Given the description of an element on the screen output the (x, y) to click on. 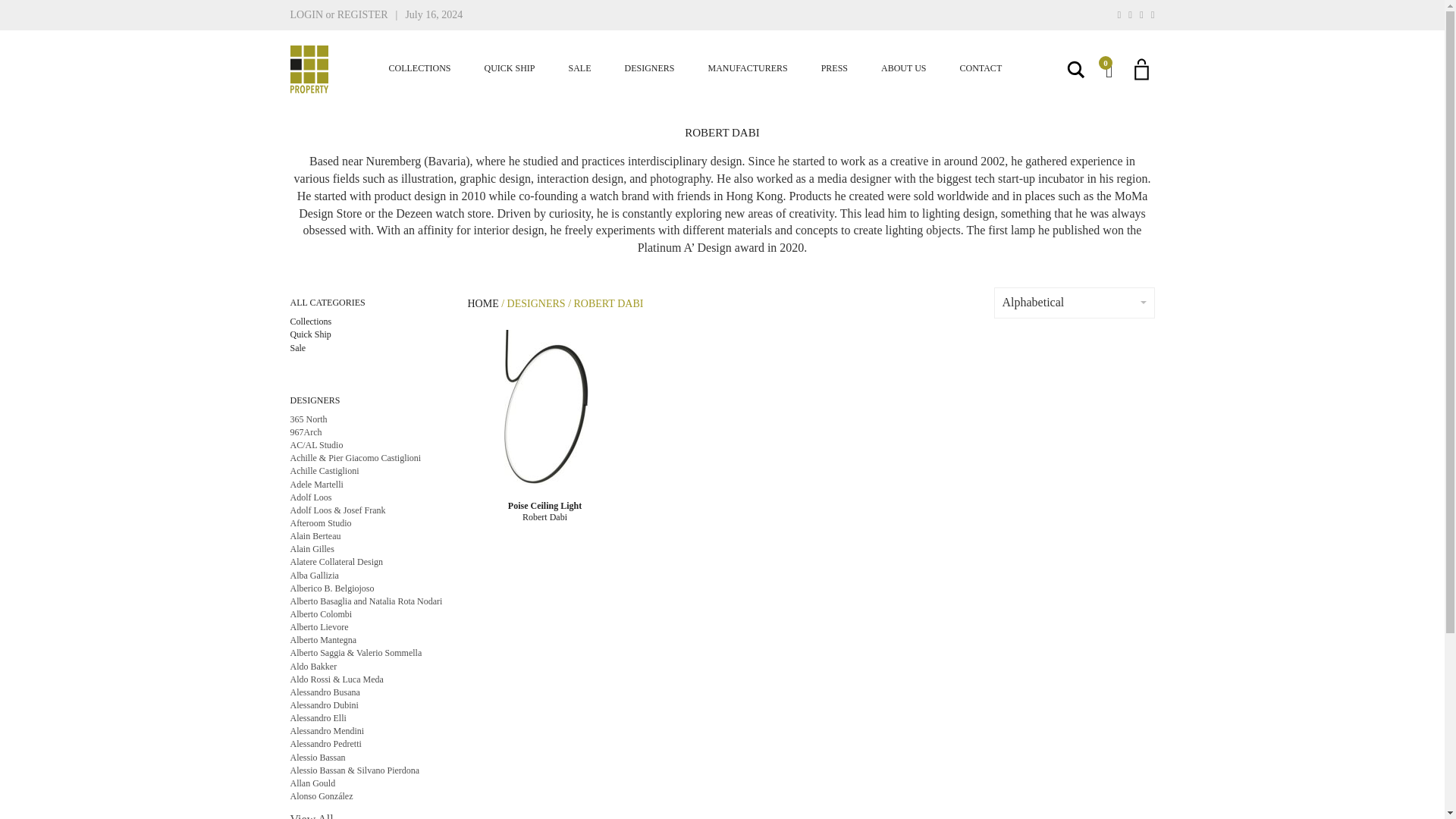
REGISTER (362, 14)
DESIGNERS (650, 68)
LOGIN (306, 14)
QUICK SHIP (509, 68)
COLLECTIONS (418, 68)
SALE (580, 68)
